Given the description of an element on the screen output the (x, y) to click on. 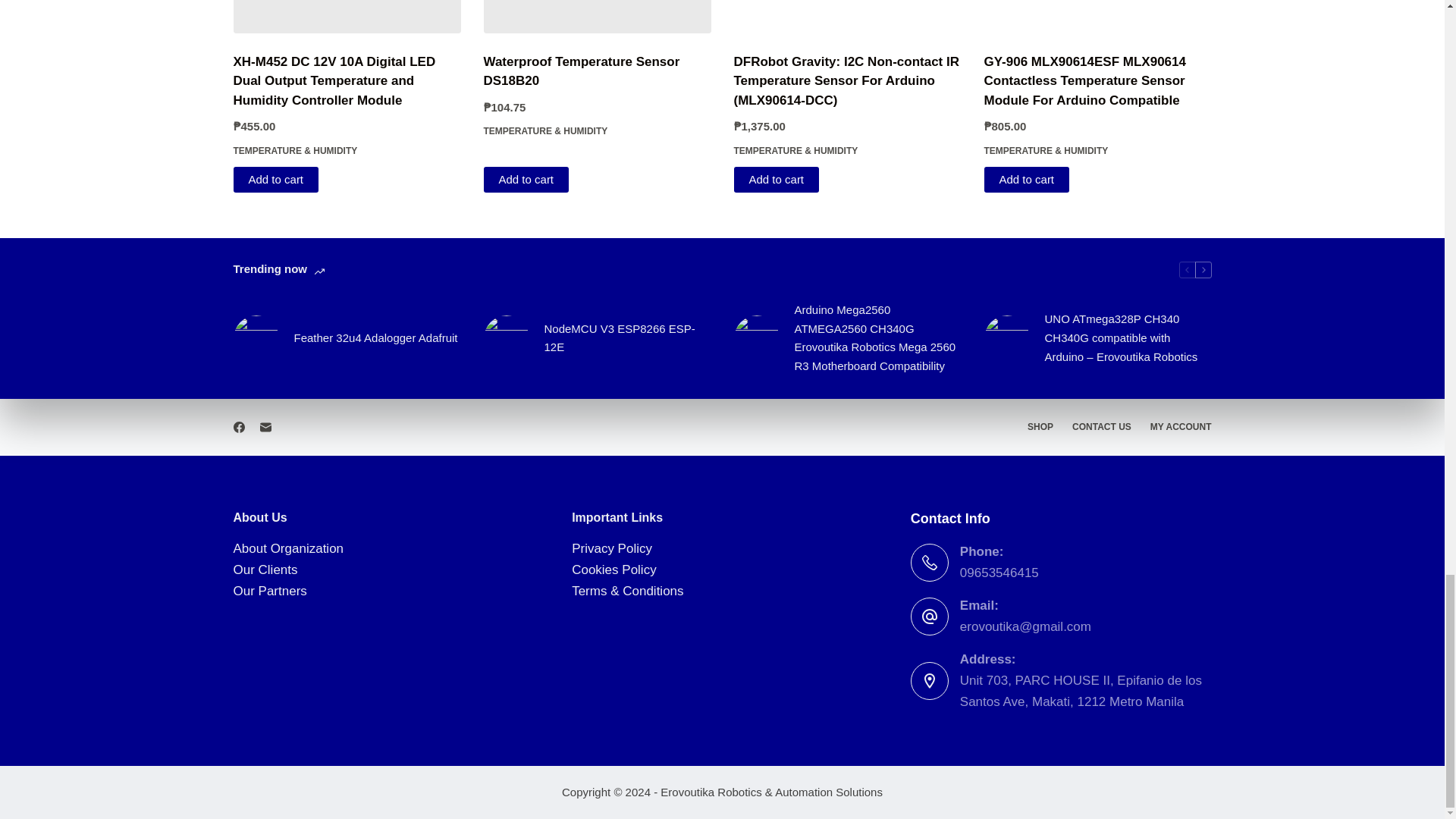
ESP8266 ESP-01S WiFi Module 1 (506, 338)
Waterproof Temperature Sensor DS18B20 (597, 16)
